Given the description of an element on the screen output the (x, y) to click on. 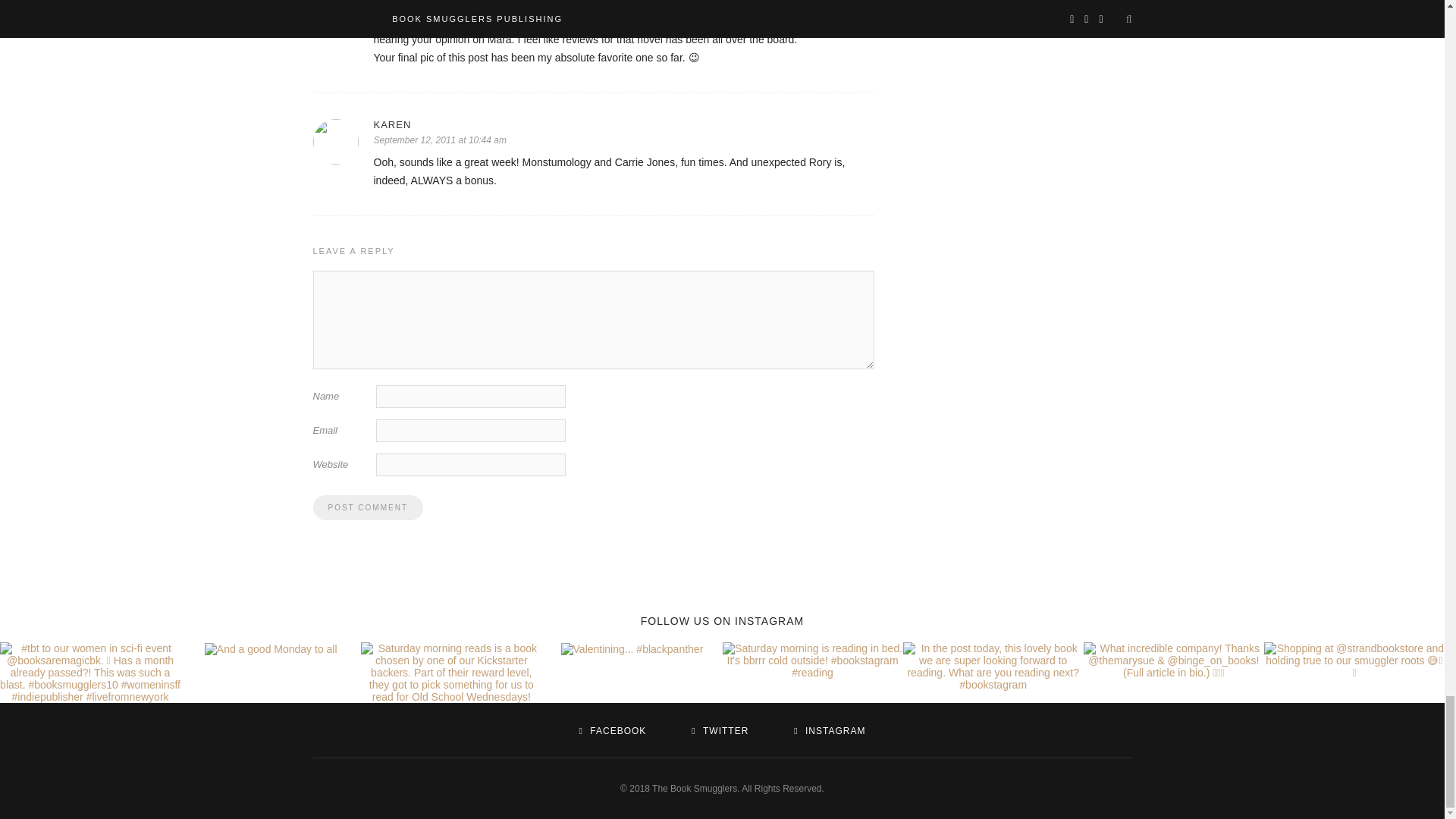
And a good Monday to all (271, 648)
Post Comment (367, 507)
